Given the description of an element on the screen output the (x, y) to click on. 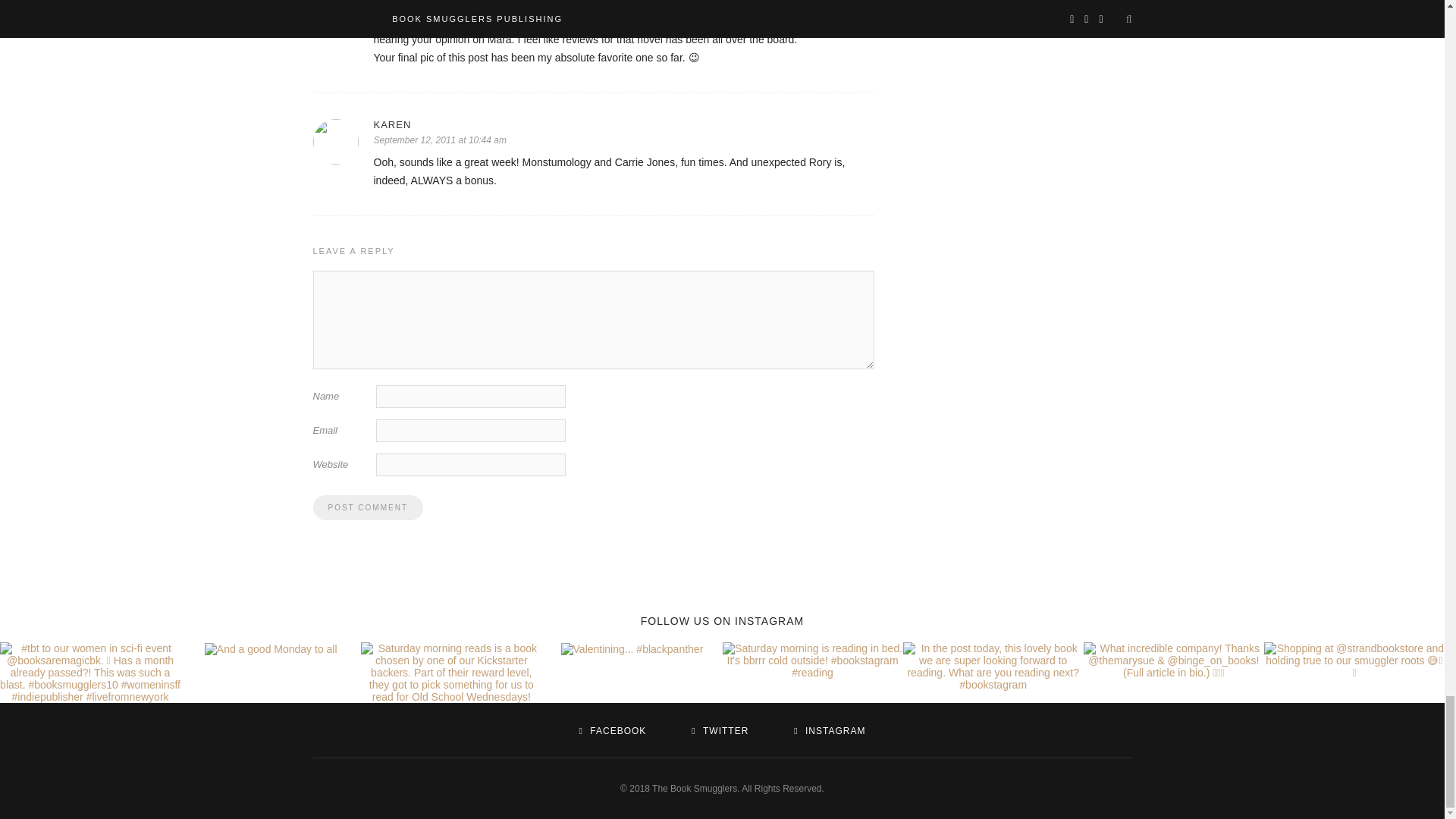
And a good Monday to all (271, 648)
Post Comment (367, 507)
